Given the description of an element on the screen output the (x, y) to click on. 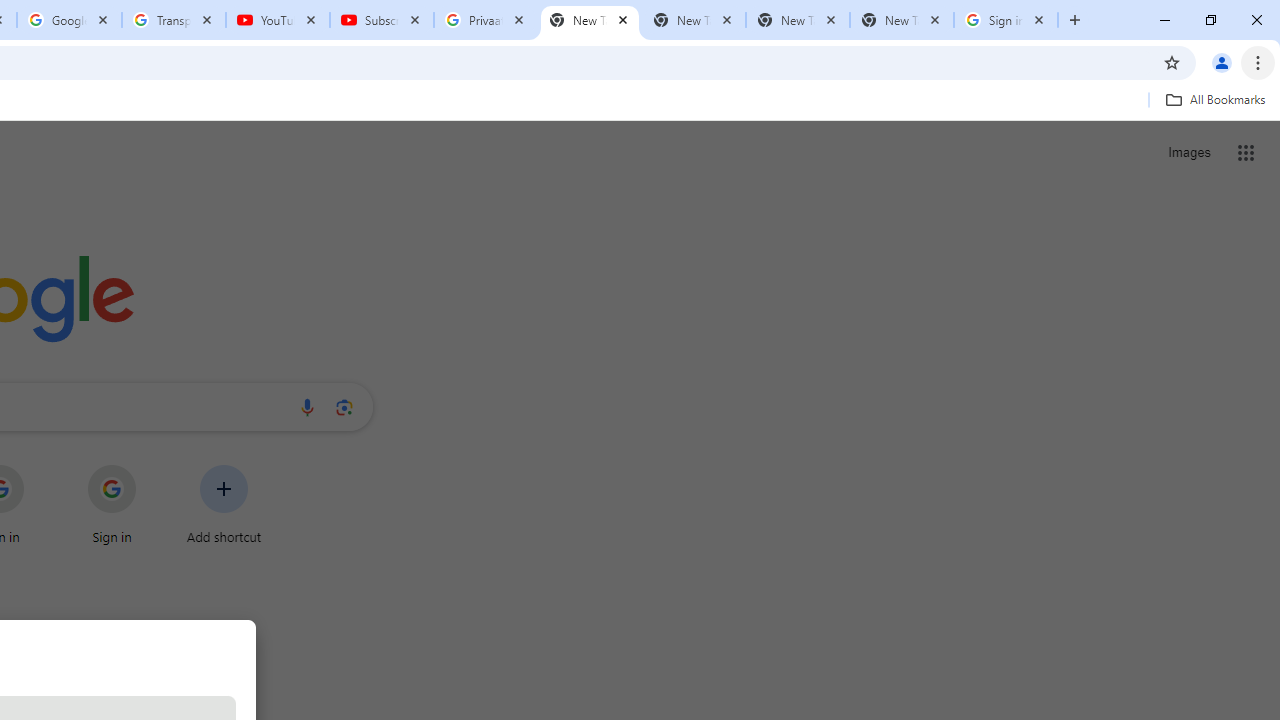
Sign in - Google Accounts (1005, 20)
New Tab (901, 20)
Subscriptions - YouTube (381, 20)
New Tab (589, 20)
Google Account (68, 20)
YouTube (278, 20)
